Given the description of an element on the screen output the (x, y) to click on. 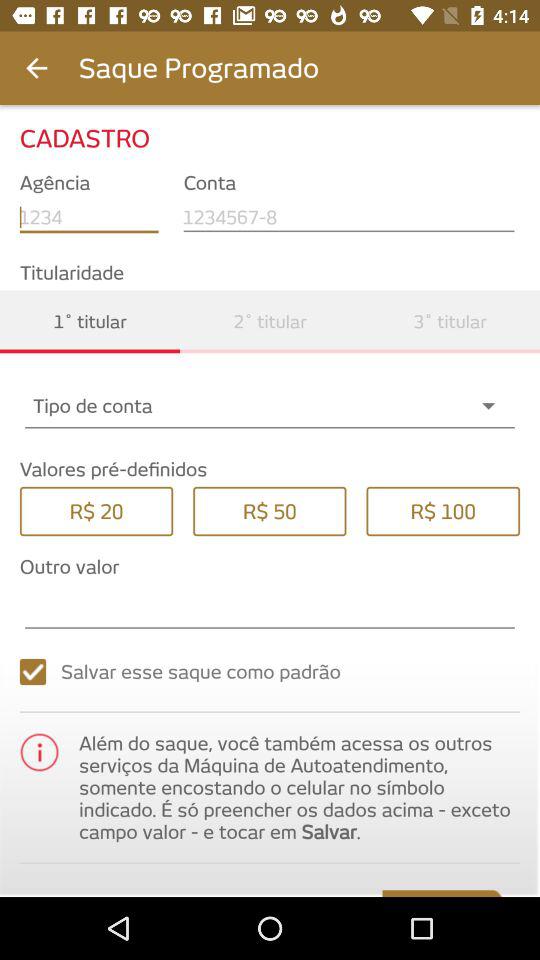
click on the r20 (95, 510)
select the text field under conta (352, 217)
click on the button above the text valores predefinidos (269, 405)
